Given the description of an element on the screen output the (x, y) to click on. 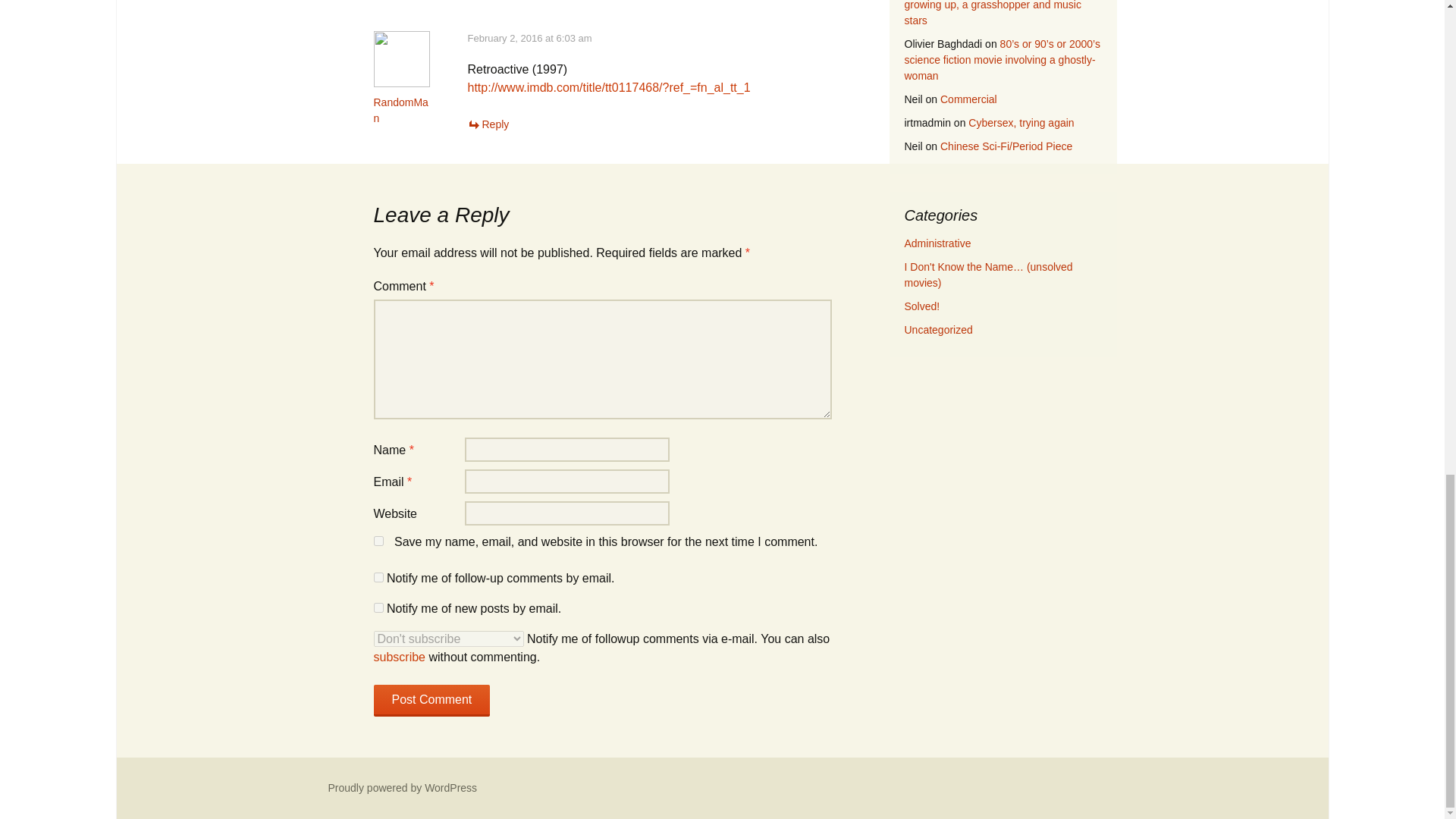
subscribe (377, 607)
Post Comment (430, 700)
subscribe (398, 656)
Reply (487, 123)
Movie about a girl growing up, a grasshopper and music stars (992, 13)
Commercial (968, 99)
Proudly powered by WordPress (402, 787)
Administrative (937, 243)
subscribe (377, 577)
Cybersex, trying again (1021, 122)
February 2, 2016 at 6:03 am (529, 38)
Post Comment (430, 700)
yes (377, 541)
Uncategorized (938, 329)
Solved! (921, 306)
